Given the description of an element on the screen output the (x, y) to click on. 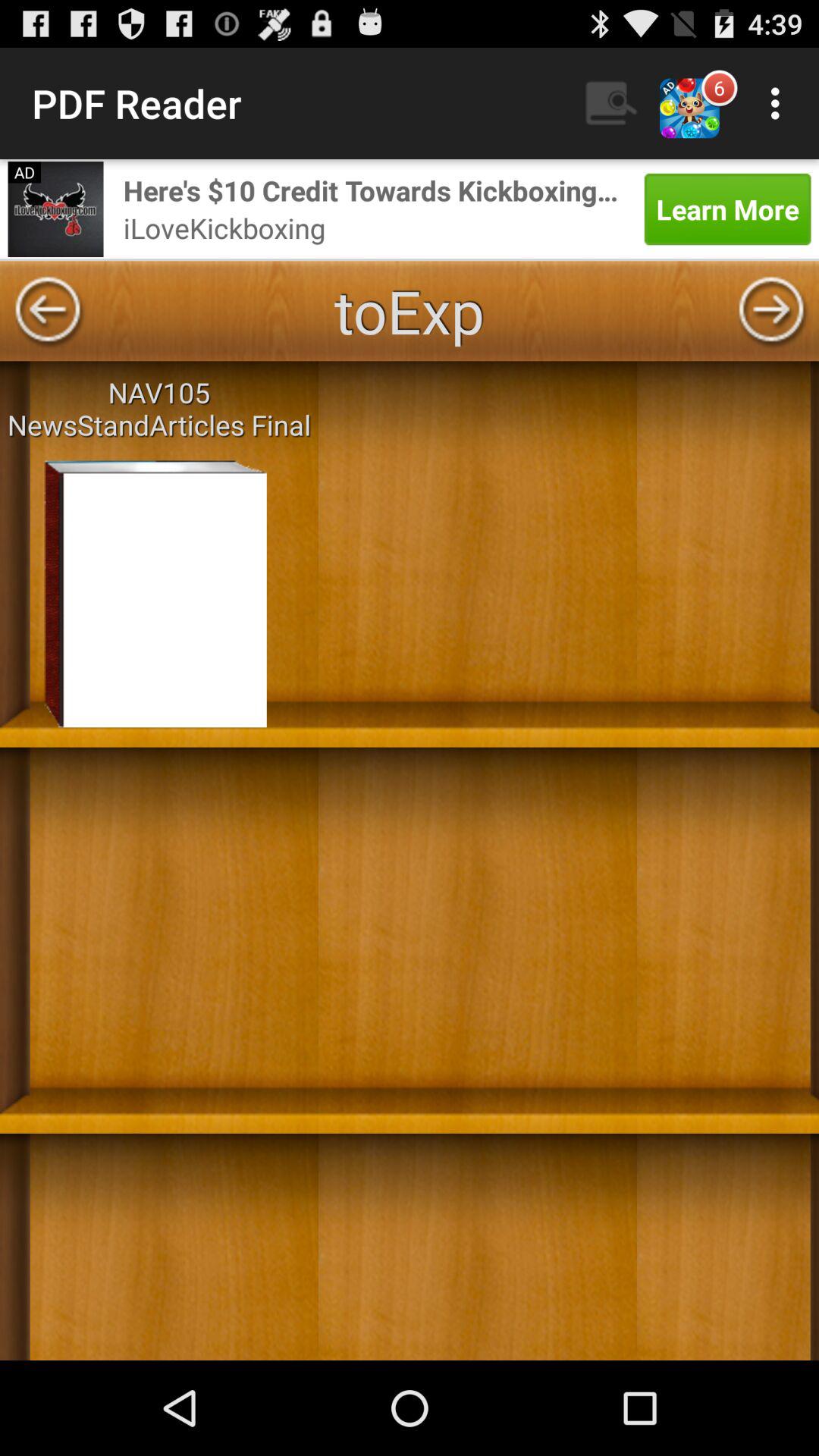
next (771, 310)
